Given the description of an element on the screen output the (x, y) to click on. 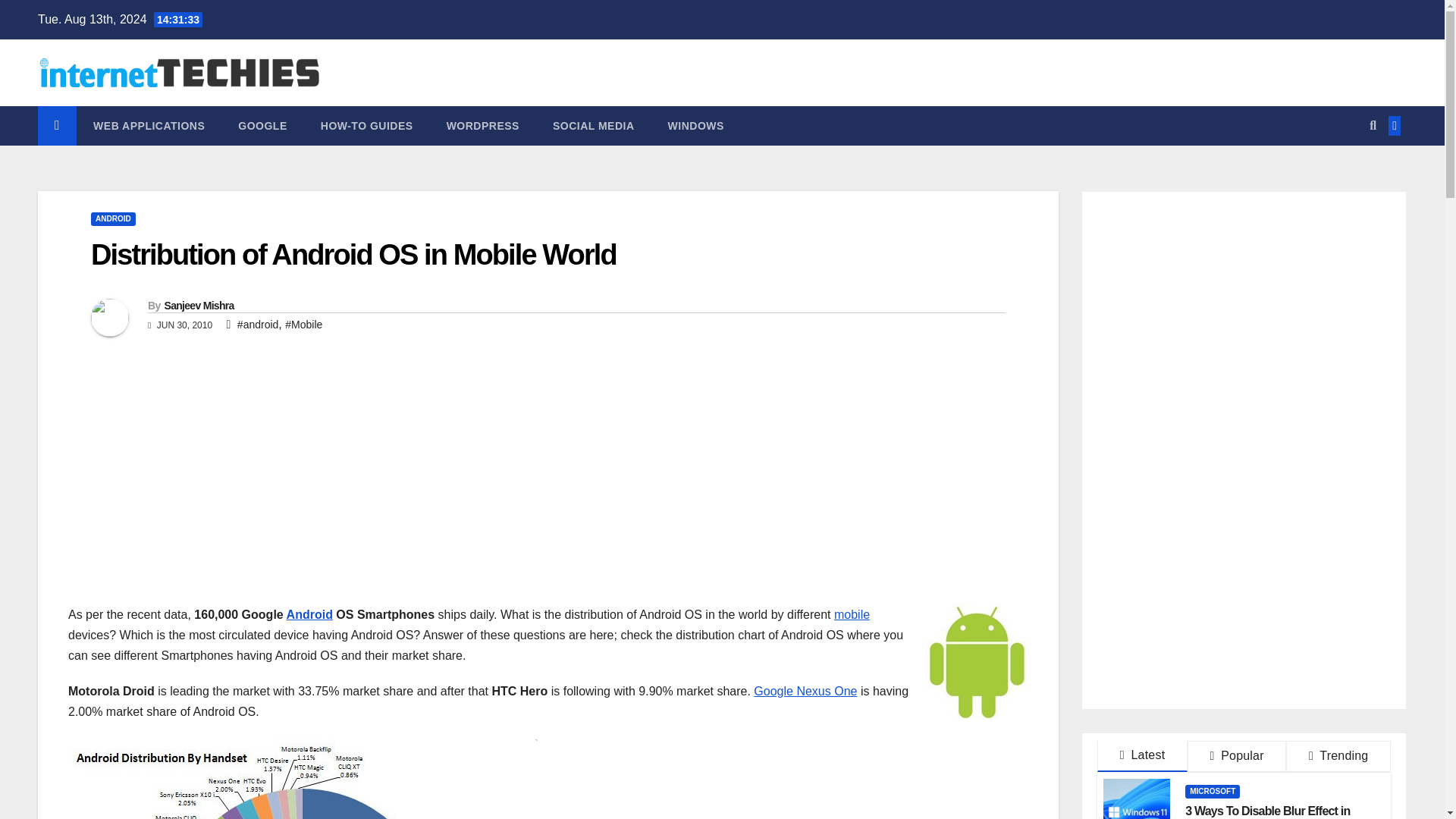
ANDROID (112, 219)
How-To Guides (366, 125)
SOCIAL MEDIA (592, 125)
Advertisement (195, 491)
Google Nexus One (805, 690)
Android OS distribution by handset (302, 778)
mobile (851, 614)
HOW-TO GUIDES (366, 125)
Distribution of Android OS in Mobile World (352, 255)
WordPress (482, 125)
